Given the description of an element on the screen output the (x, y) to click on. 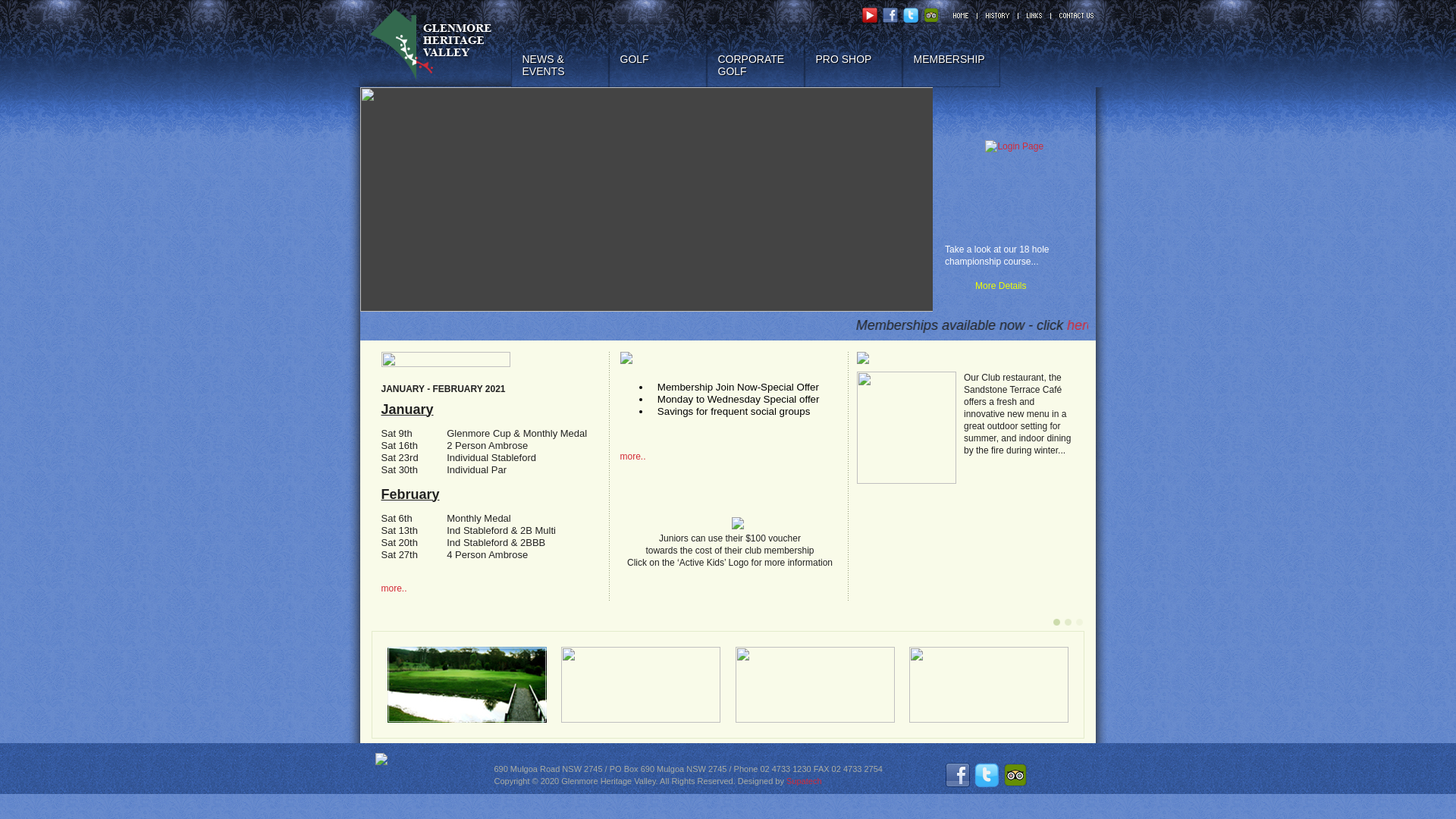
more.. Element type: text (393, 588)
            More Details Element type: text (985, 285)
NEWS & EVENTS Element type: text (559, 54)
here Element type: text (1183, 326)
Facebook Element type: text (1249, 326)
MEMBERSHIP Element type: text (951, 54)
CORPORATE GOLF Element type: text (755, 54)
more.. Element type: text (633, 456)
PRO SHOP Element type: text (852, 54)
Supatech Element type: text (803, 780)
here Element type: text (1096, 324)
GOLF Element type: text (657, 54)
